Given the description of an element on the screen output the (x, y) to click on. 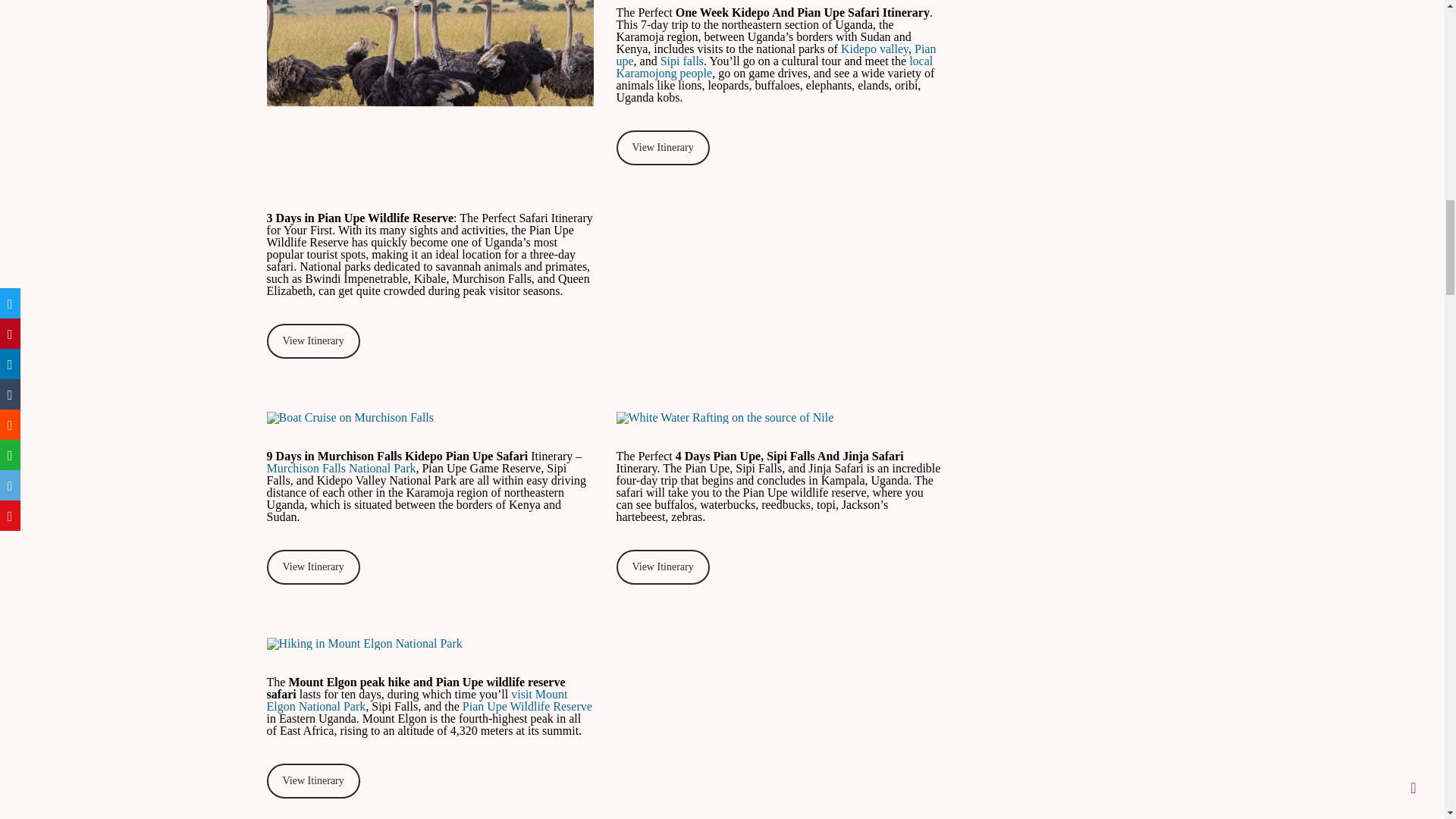
View Itinerary (312, 340)
Attractions in Pian Upe wildlife reserve. (430, 92)
